Given the description of an element on the screen output the (x, y) to click on. 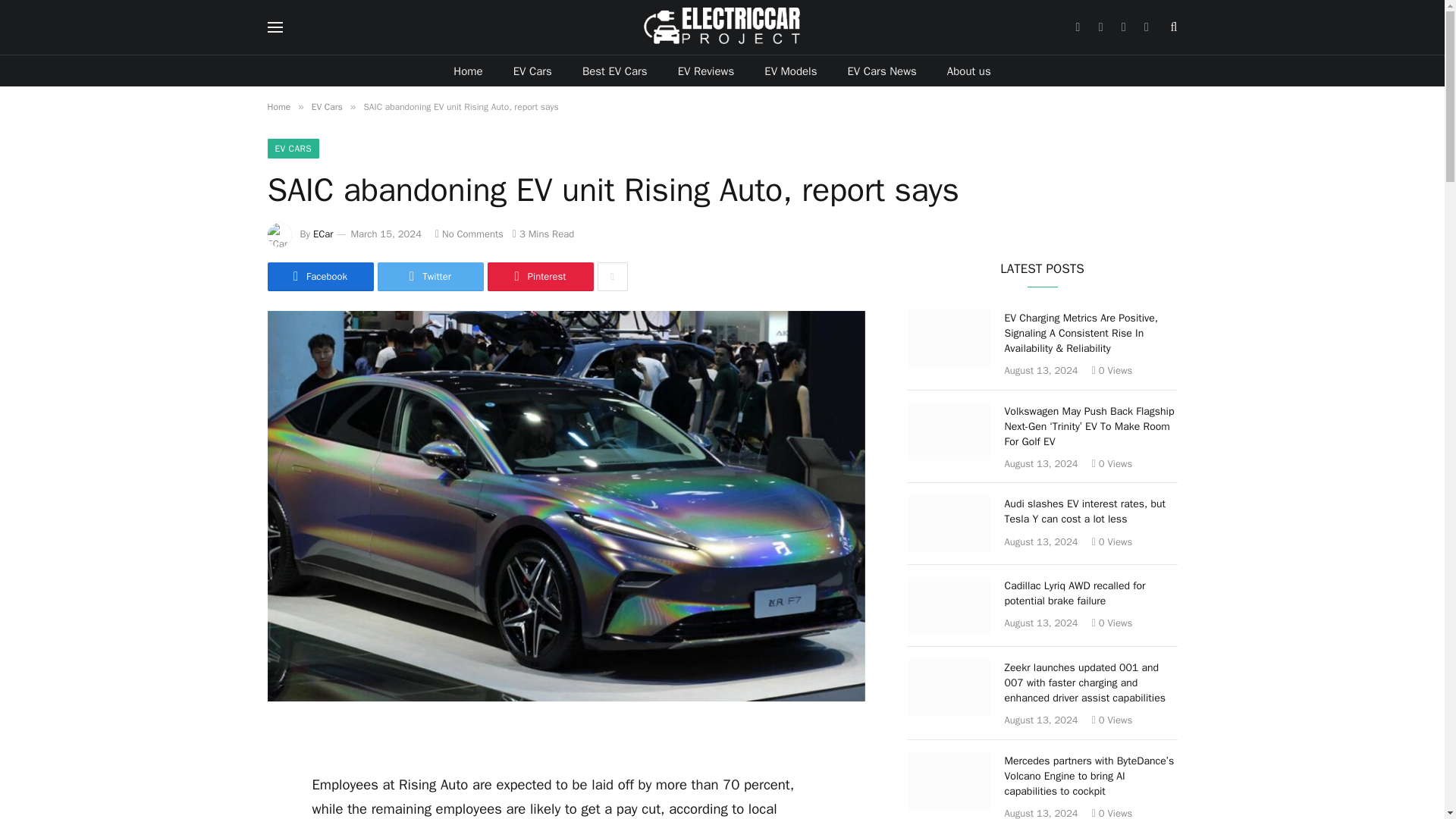
Best EV Cars (614, 70)
Home (277, 106)
ECar (323, 233)
Facebook (319, 276)
Share on Pinterest (539, 276)
EV Cars (326, 106)
Twitter (430, 276)
About us (968, 70)
No Comments (469, 233)
EV Reviews (705, 70)
